Given the description of an element on the screen output the (x, y) to click on. 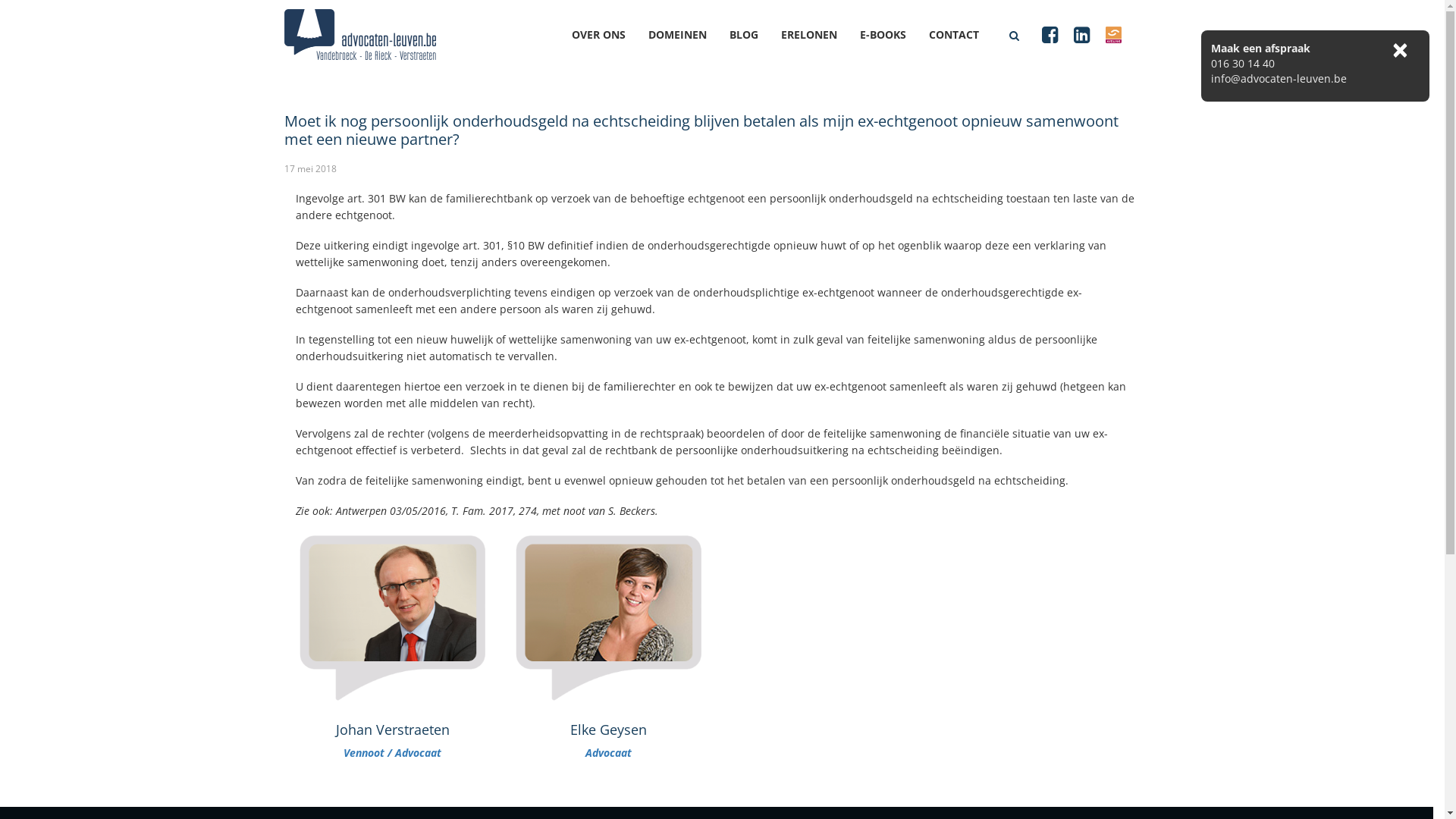
DOMEINEN Element type: text (688, 49)
ERELONEN Element type: text (820, 49)
CONTACT Element type: text (964, 49)
OVER ONS Element type: text (609, 49)
17 mei 2018 Element type: text (310, 168)
E-BOOKS Element type: text (893, 49)
BLOG Element type: text (755, 49)
